Given the description of an element on the screen output the (x, y) to click on. 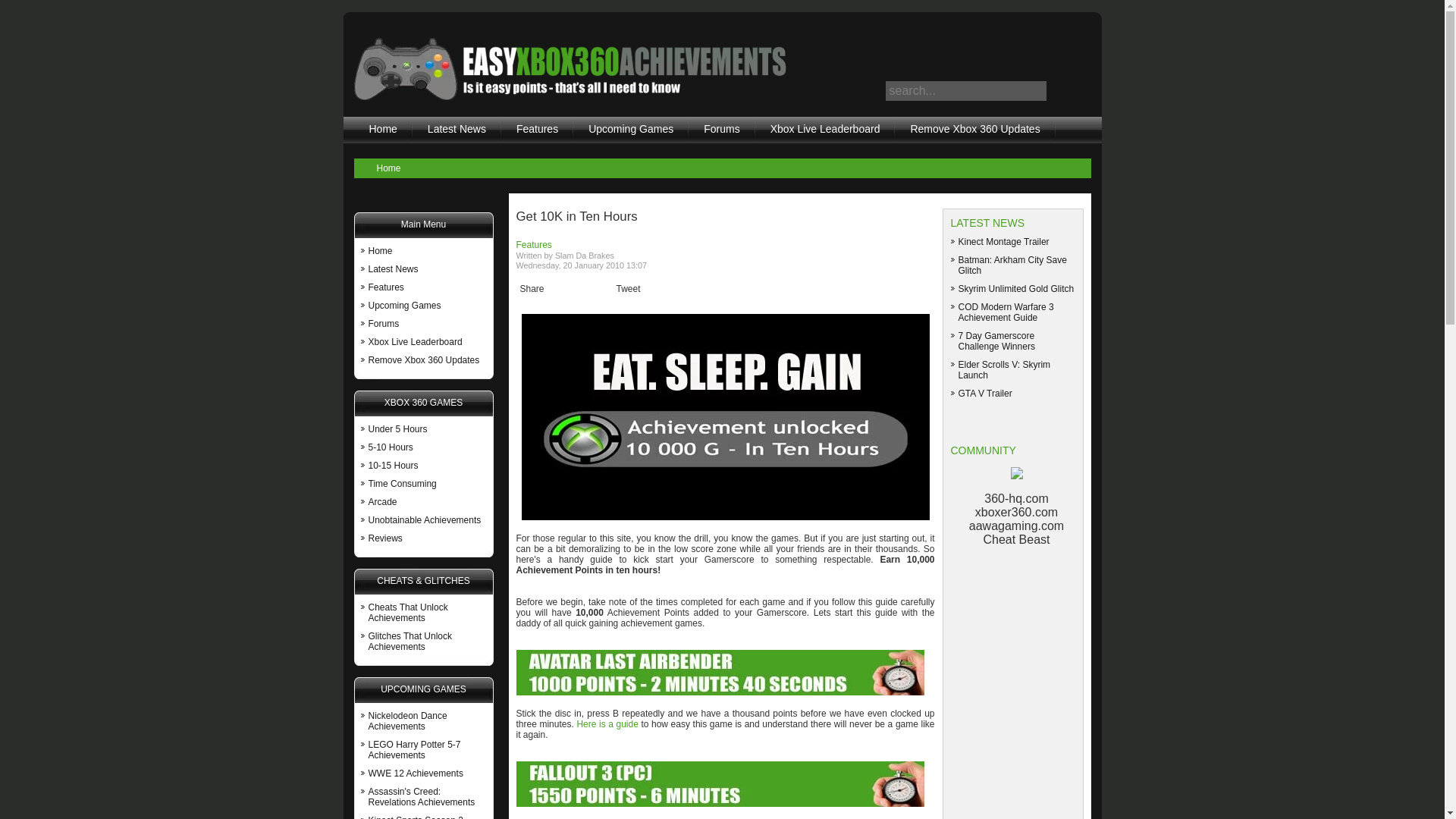
Features (386, 286)
Remove Xbox 360 Updates (424, 359)
Xbox Live Leaderboard (825, 133)
Kinect Sports Season 2 Achievements (415, 816)
Reviews (385, 538)
WWE 12 Achievements (415, 773)
Under 5 Hours (398, 429)
Time Consuming (402, 483)
Upcoming Games (630, 133)
Features (536, 133)
Latest News (393, 268)
Cheats That Unlock Achievements (408, 612)
Nickelodeon Dance Achievements (407, 721)
LEGO Harry Potter 5-7 Achievements (414, 749)
